Given the description of an element on the screen output the (x, y) to click on. 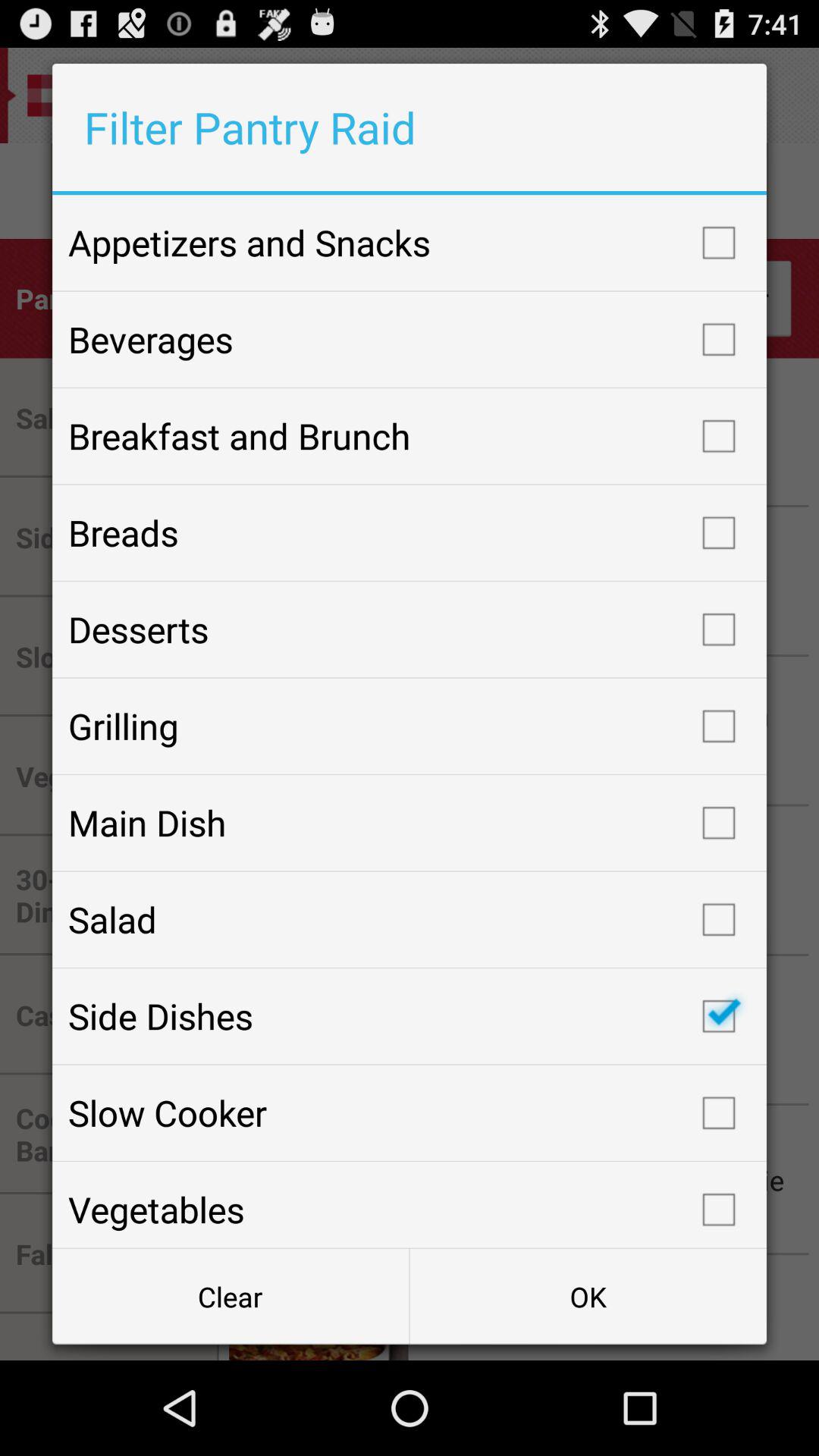
choose item to the left of the ok item (230, 1296)
